Given the description of an element on the screen output the (x, y) to click on. 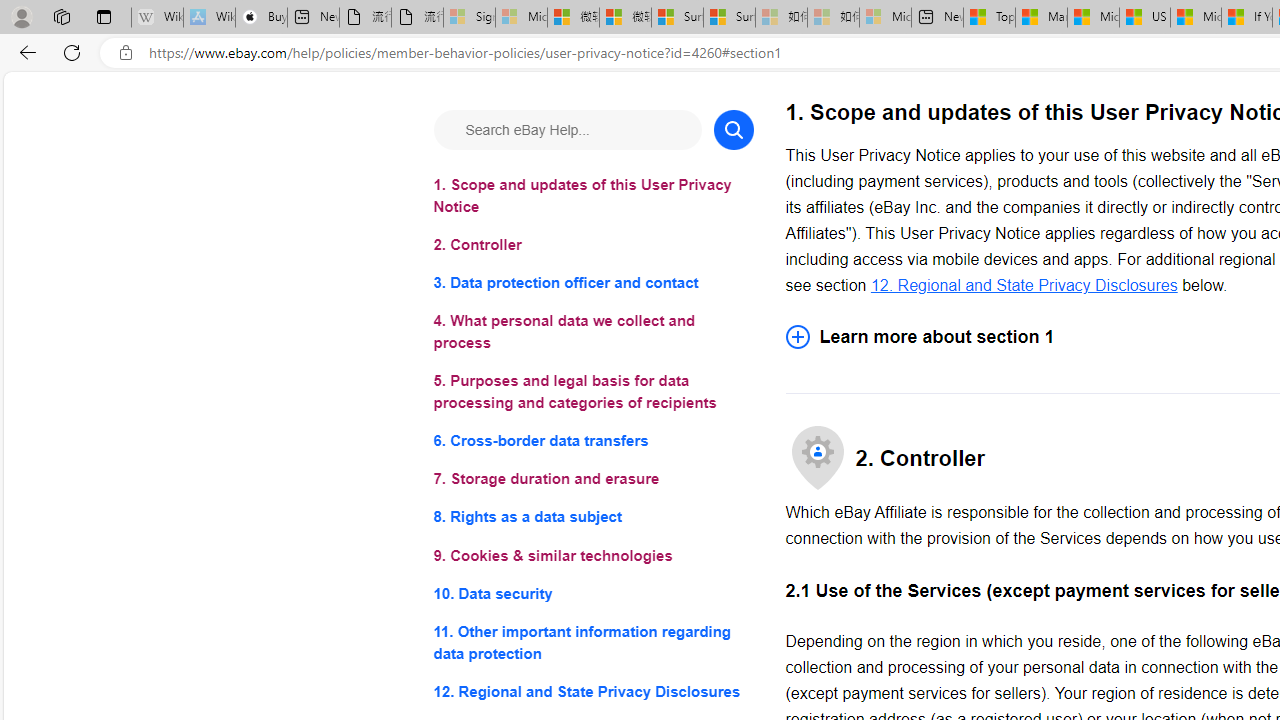
9. Cookies & similar technologies (592, 555)
Marine life - MSN (1041, 17)
1. Scope and updates of this User Privacy Notice (592, 196)
12. Regional and State Privacy Disclosures (592, 690)
6. Cross-border data transfers (592, 440)
Wikipedia - Sleeping (157, 17)
10. Data security (592, 592)
9. Cookies & similar technologies (592, 555)
1. Scope and updates of this User Privacy Notice (592, 196)
